Given the description of an element on the screen output the (x, y) to click on. 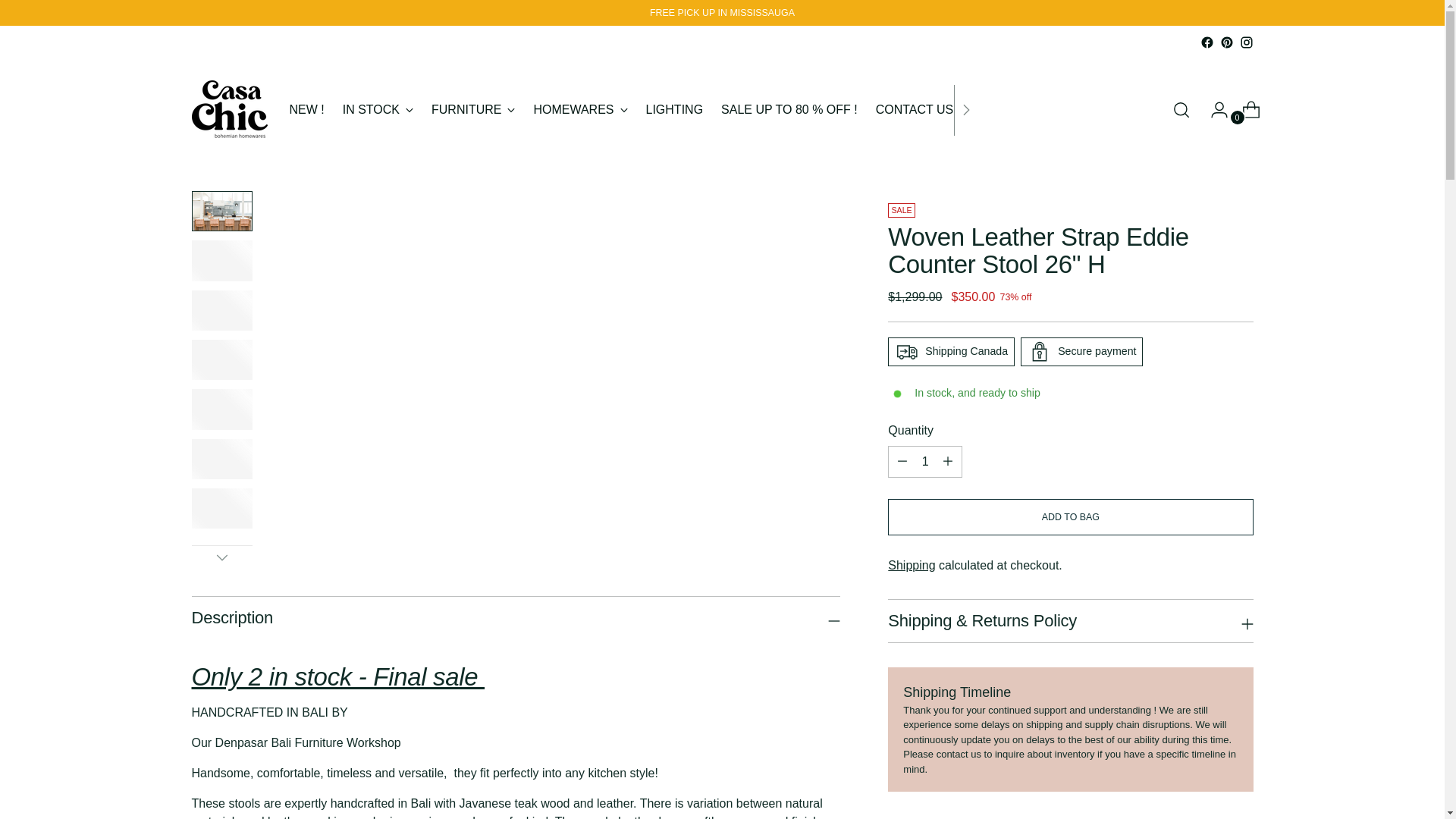
Casachicstore on Pinterest (1226, 42)
NEW ! (306, 109)
1 (925, 461)
FURNITURE (472, 109)
Casachicstore on Facebook (1205, 42)
Down (220, 557)
IN STOCK (377, 109)
Casachicstore on Instagram (1245, 42)
